Given the description of an element on the screen output the (x, y) to click on. 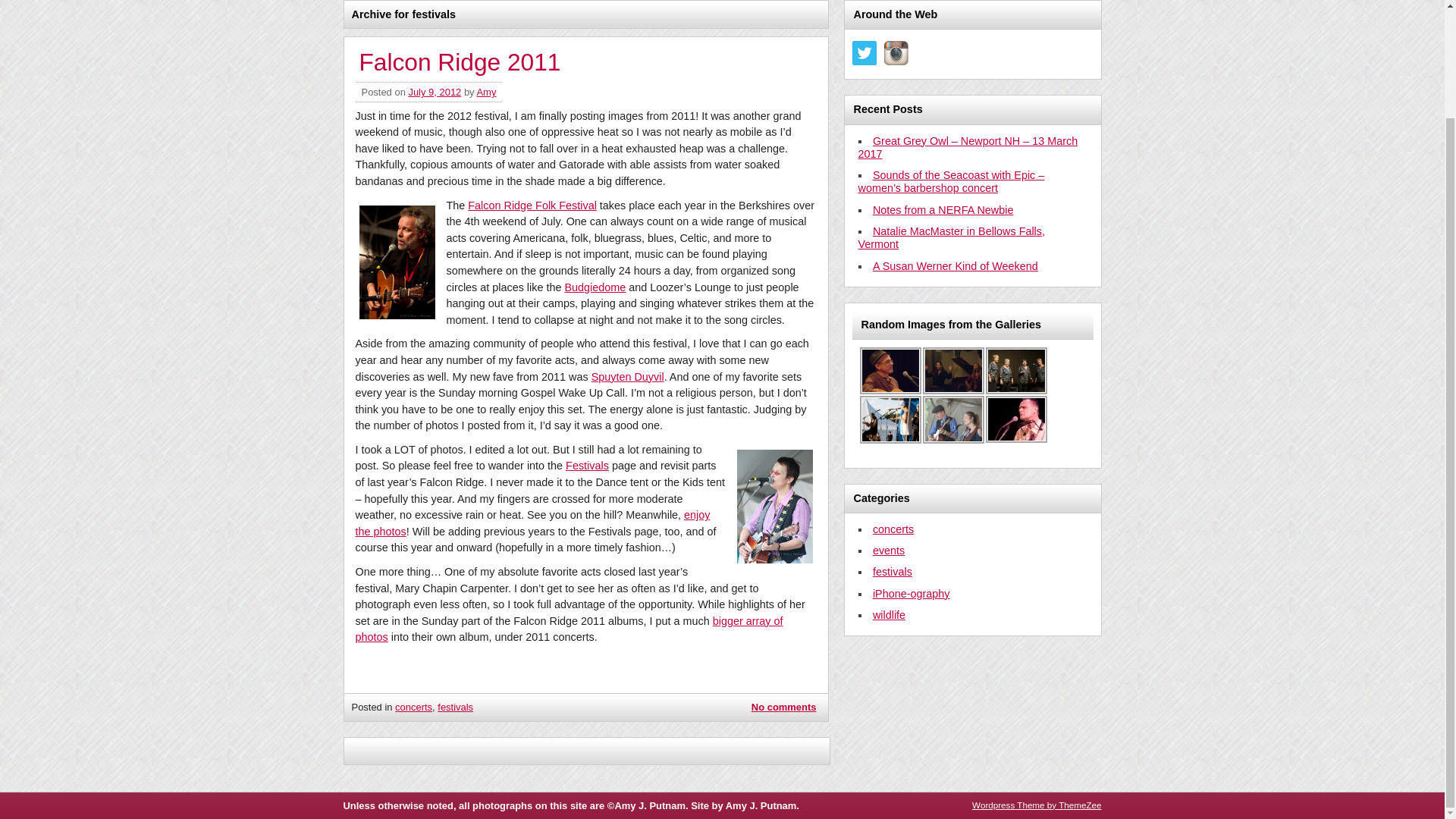
Posts by Amy (486, 91)
Falcon Ridge Folk Festival (531, 205)
Sounds of the Seacoast with Epic (1015, 370)
July 9, 2012 (434, 91)
Follow Us on Twitter (863, 52)
Budgiedome (595, 287)
Falcon Ridge 2011 (459, 62)
Spuyten Duyvil (627, 377)
Amy (486, 91)
Follow Us on Instagram (895, 52)
Festivals (587, 465)
2012 Falcon Ridge Folk Festival (952, 419)
